Given the description of an element on the screen output the (x, y) to click on. 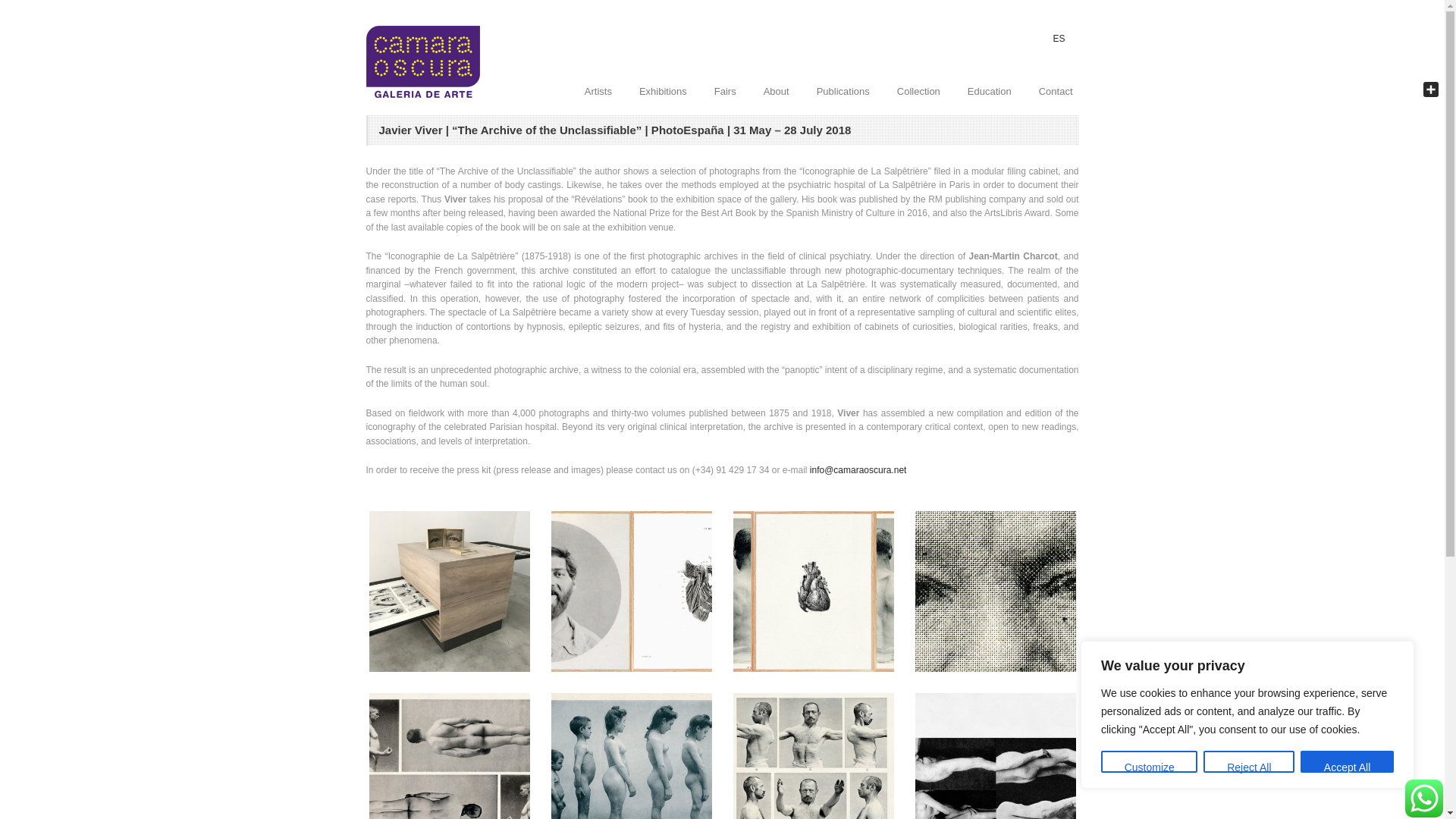
Exhibitions (663, 90)
Education (989, 90)
Publications (843, 90)
Customize (1148, 762)
Reject All (1249, 762)
Fairs (724, 90)
Collection (918, 90)
Accept All (1346, 762)
ES (1058, 36)
Contact (1055, 90)
